Given the description of an element on the screen output the (x, y) to click on. 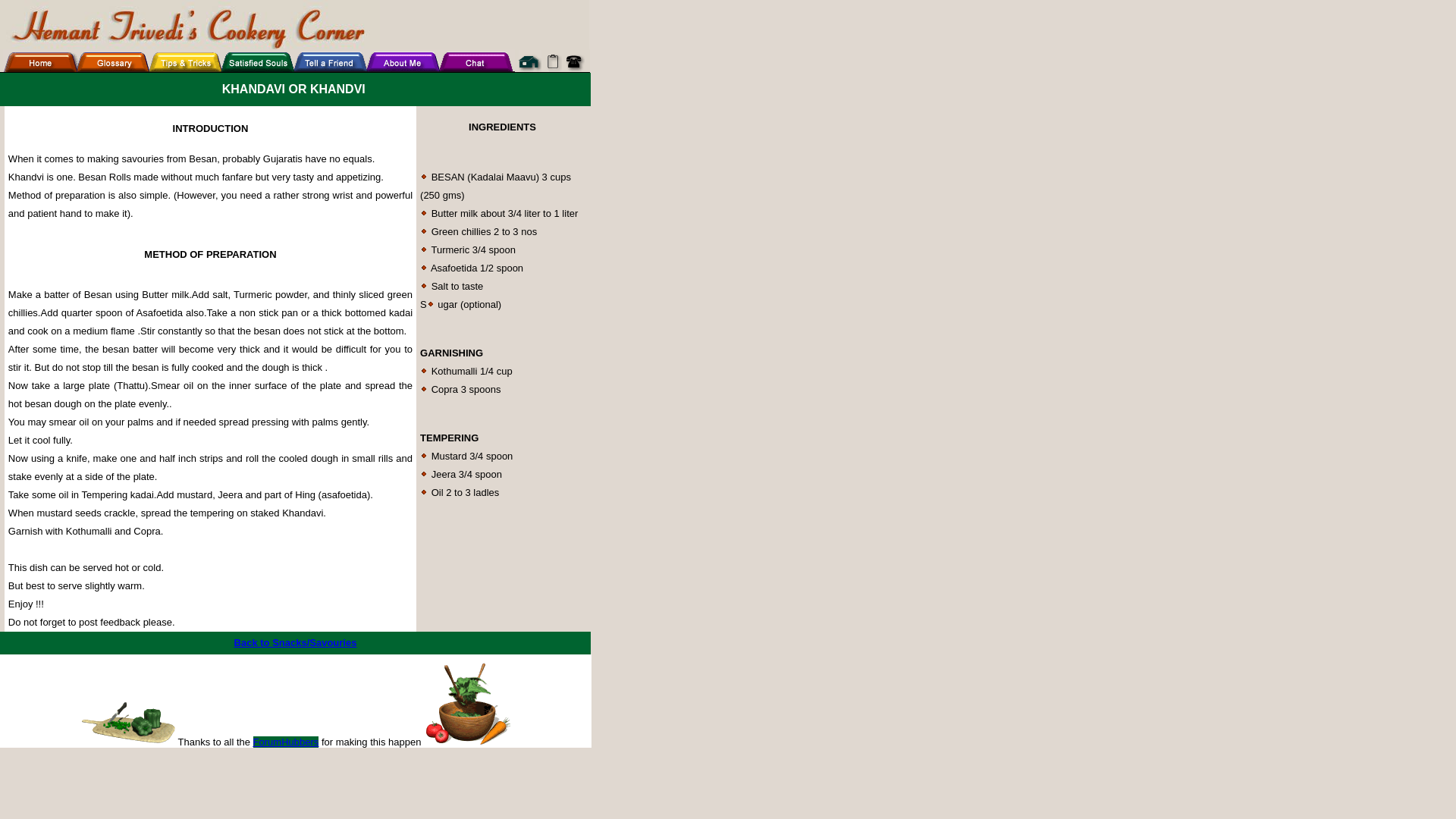
ForumHubbers (285, 741)
